Given the description of an element on the screen output the (x, y) to click on. 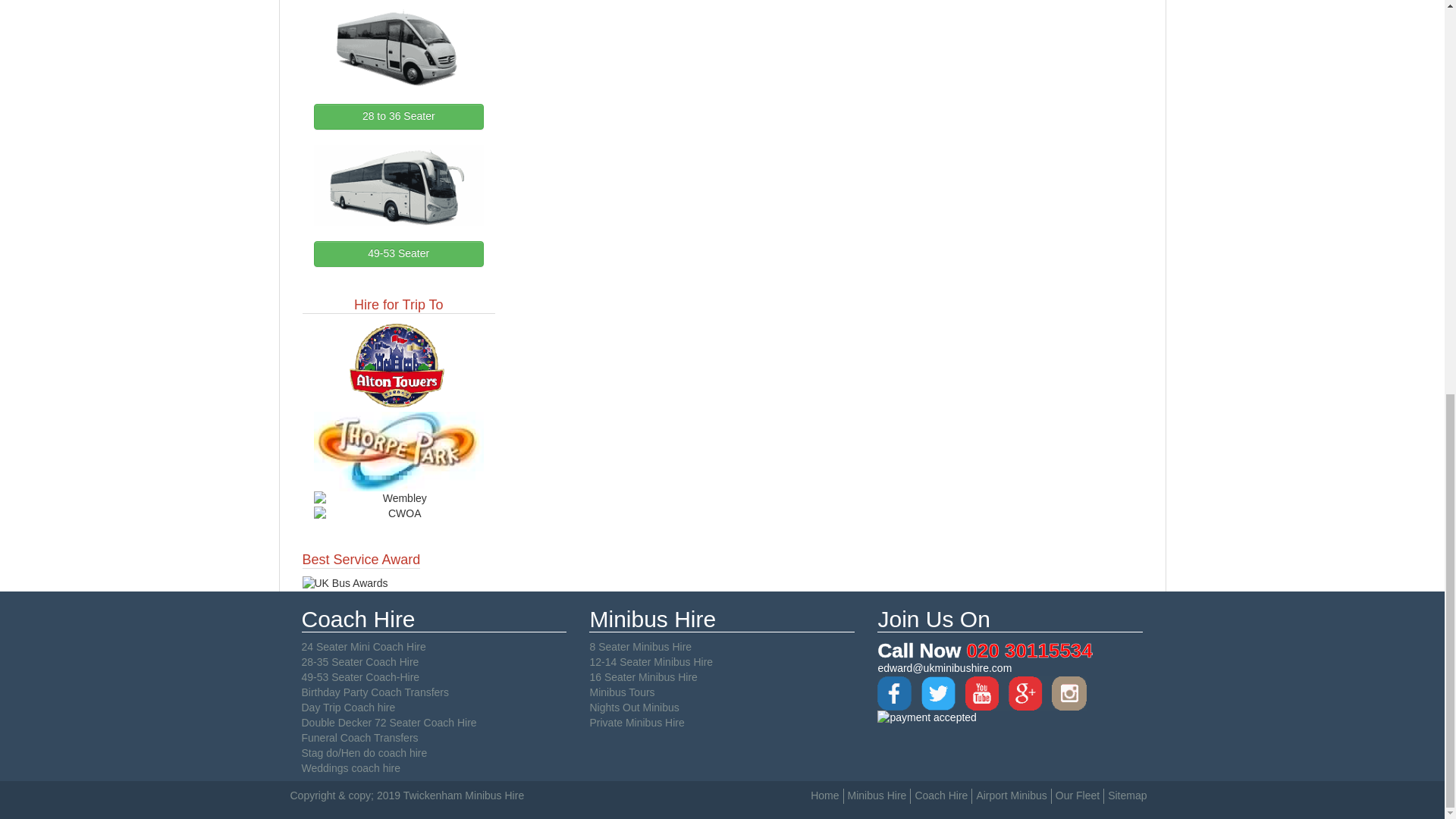
28-35 Seater Coach Hire (360, 662)
Birthday Party Coach Transfers (375, 692)
24 Seater Mini Coach Hire (363, 646)
49-53 Seater Coach-Hire (360, 676)
49-53 Seater (399, 253)
28 to 36 Seater (399, 116)
